Given the description of an element on the screen output the (x, y) to click on. 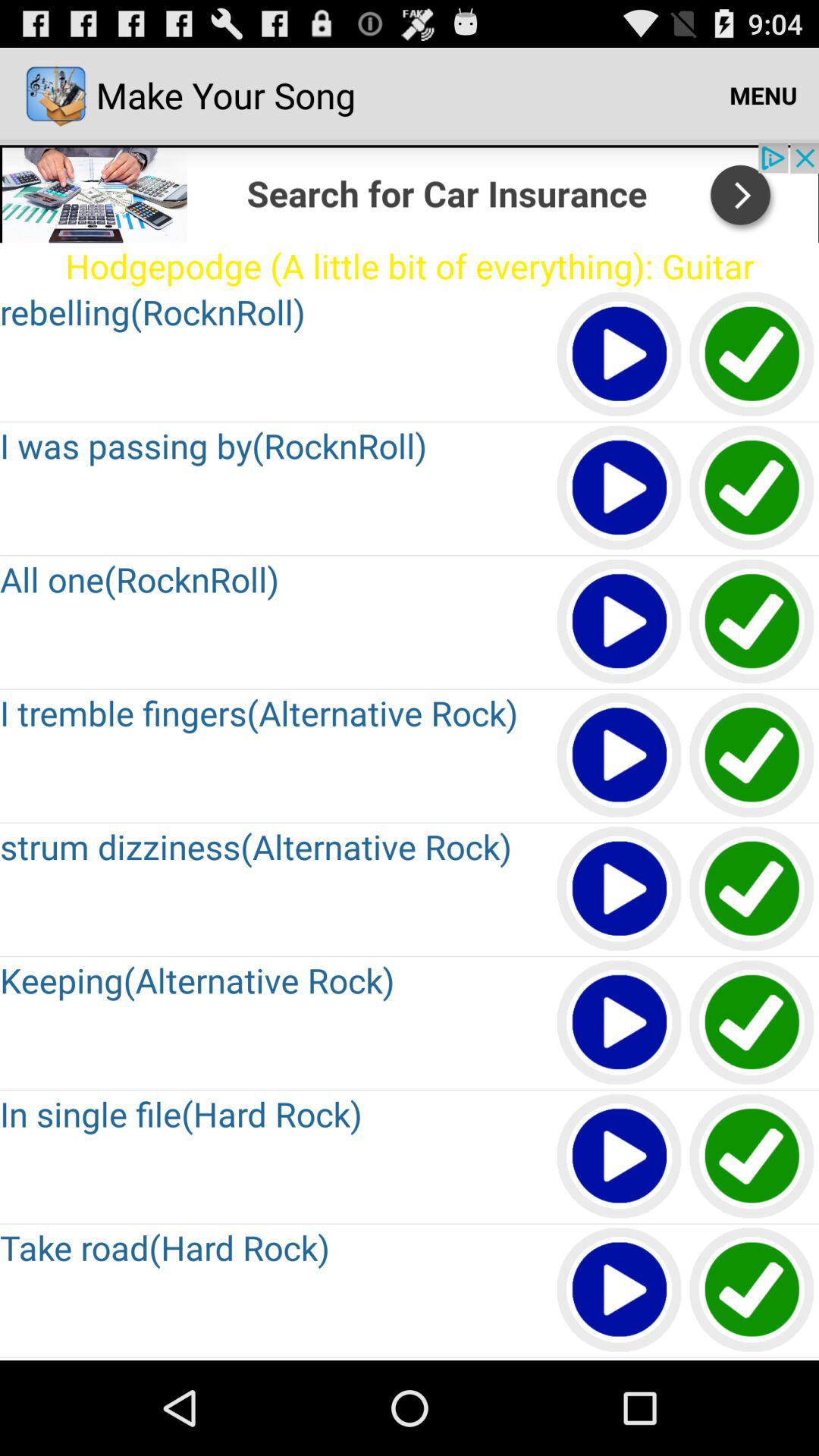
play button (619, 488)
